Given the description of an element on the screen output the (x, y) to click on. 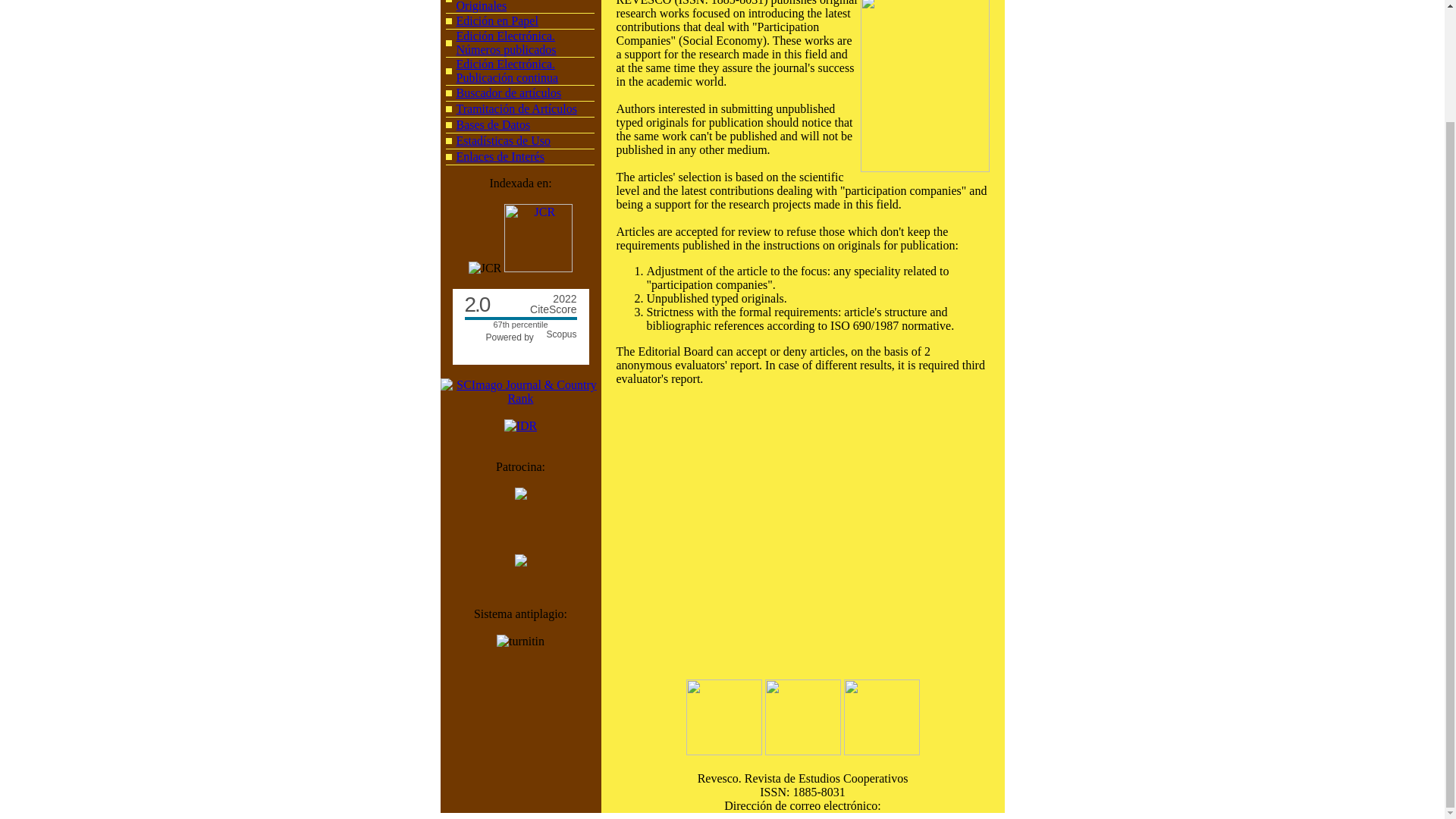
JCR (485, 268)
turnitin (520, 641)
IDR (520, 426)
JCR (537, 237)
Bases de Datos (519, 336)
IDR Revista (494, 124)
